Given the description of an element on the screen output the (x, y) to click on. 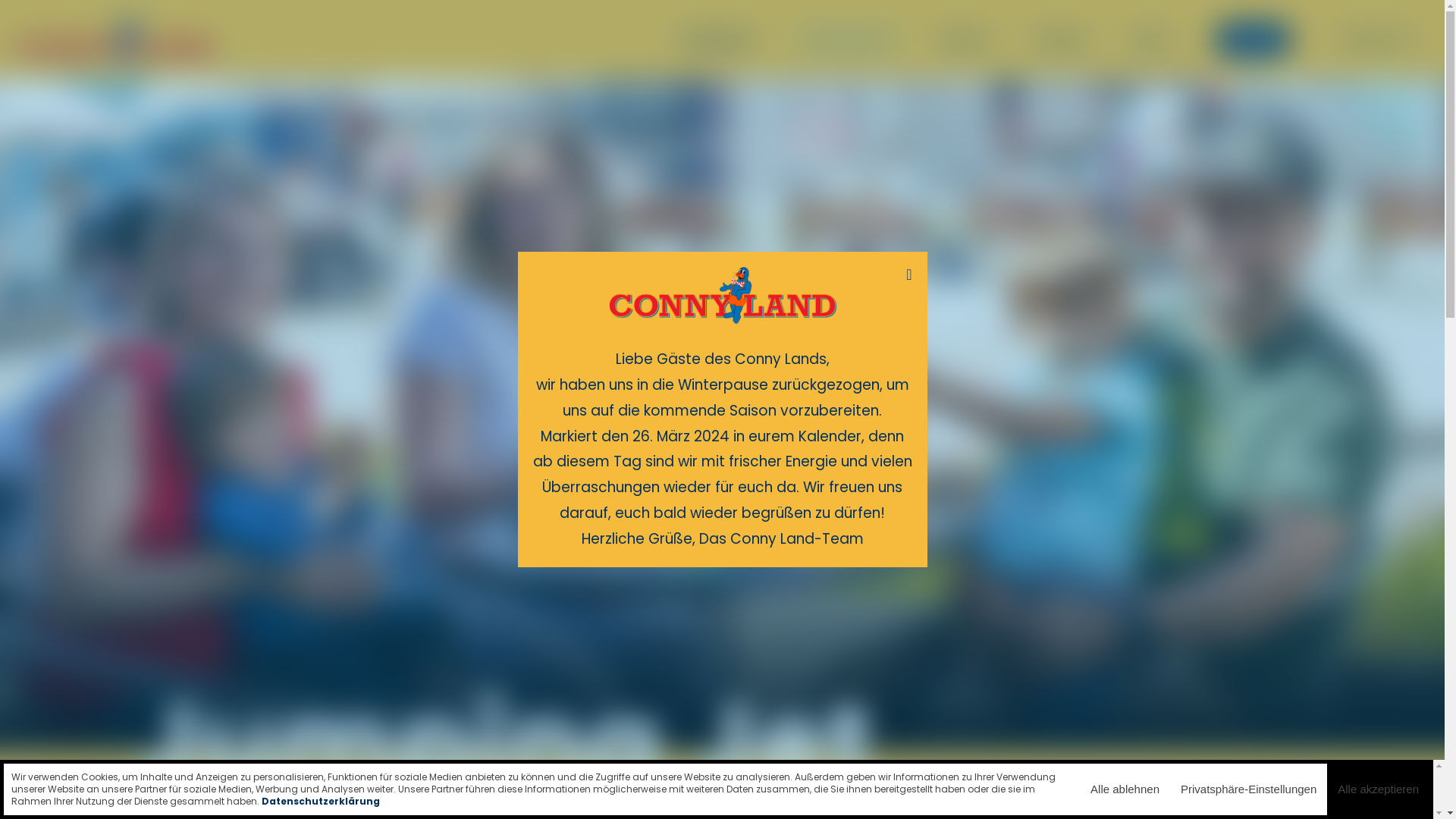
Alle akzeptieren Element type: text (1378, 789)
Shows Element type: text (964, 39)
Gastro Element type: text (1061, 39)
Alle ablehnen Element type: text (1124, 789)
Tickets Element type: text (1252, 38)
Attraktionen Element type: text (847, 39)
Deutsch Element type: text (1377, 39)
Highlights Element type: text (717, 39)
Infos Element type: text (1151, 39)
